Given the description of an element on the screen output the (x, y) to click on. 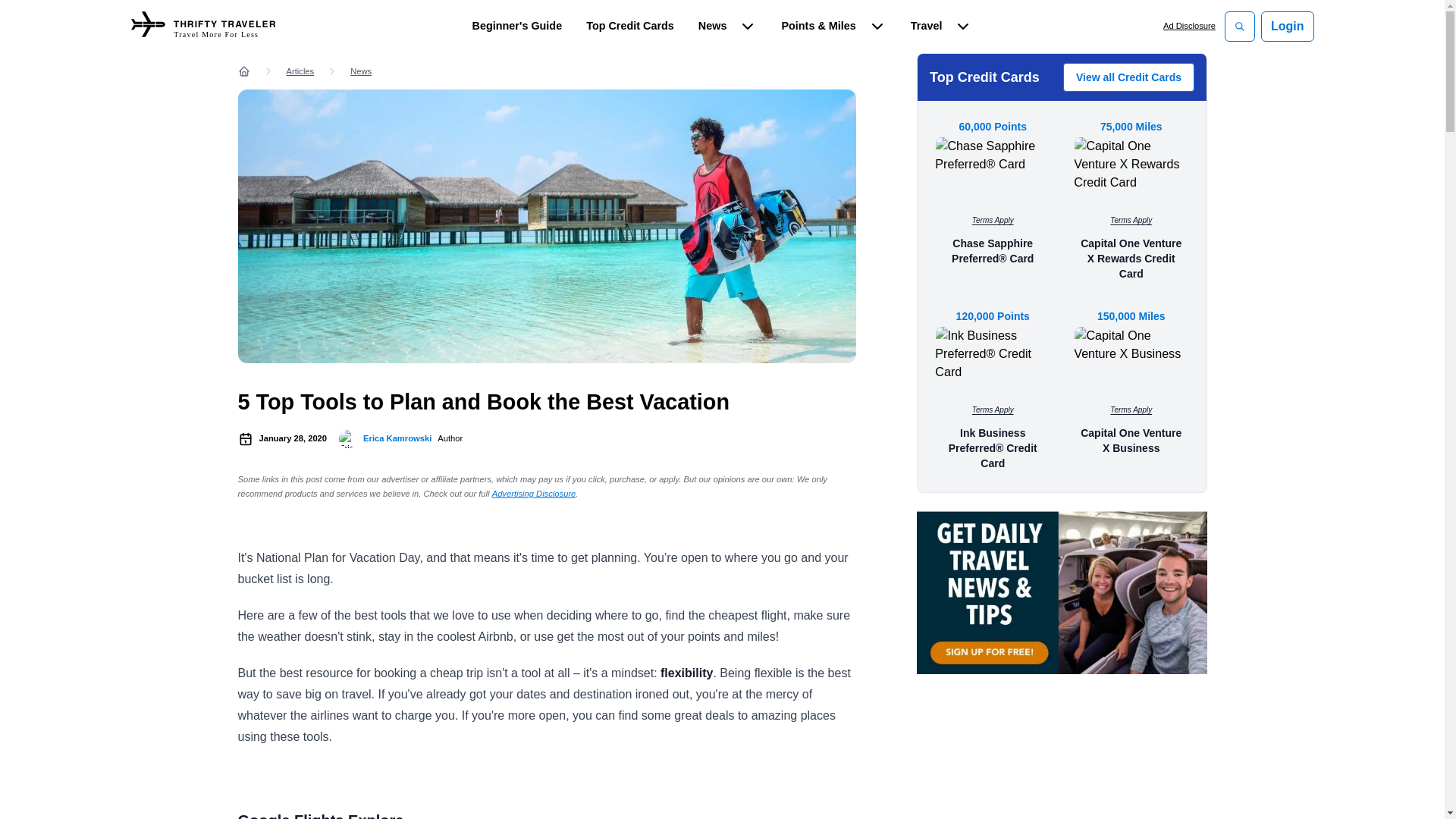
Travel More For Less (203, 25)
Top Credit Cards (547, 71)
Beginner's Guide (629, 26)
Travel More For Less (517, 26)
News (203, 25)
Travel (727, 26)
